Given the description of an element on the screen output the (x, y) to click on. 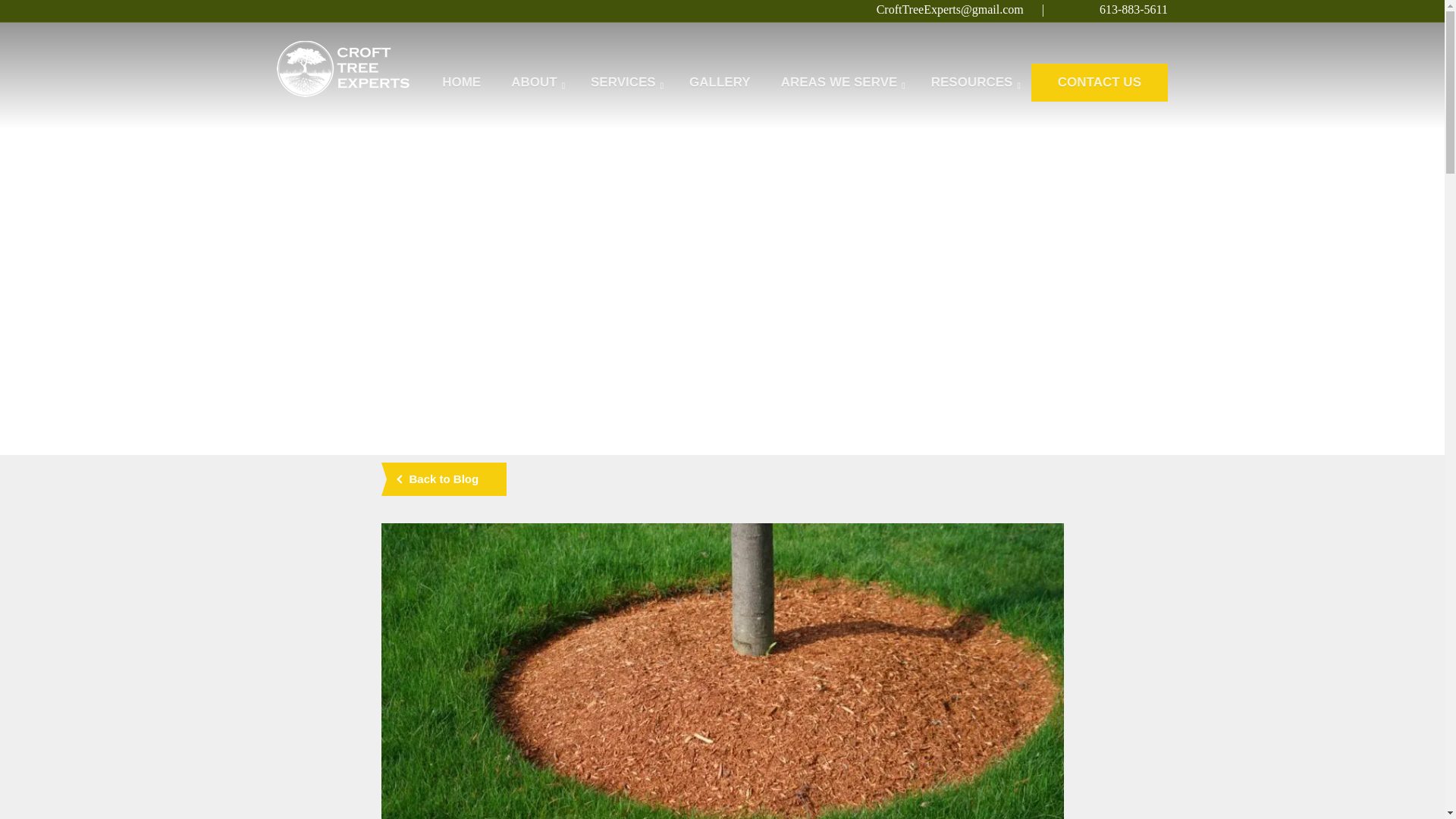
GALLERY (719, 81)
ABOUT (534, 81)
RESOURCES (971, 81)
HOME (461, 81)
613-883-5611 (1133, 9)
SERVICES (623, 81)
AREAS WE SERVE (838, 81)
